Given the description of an element on the screen output the (x, y) to click on. 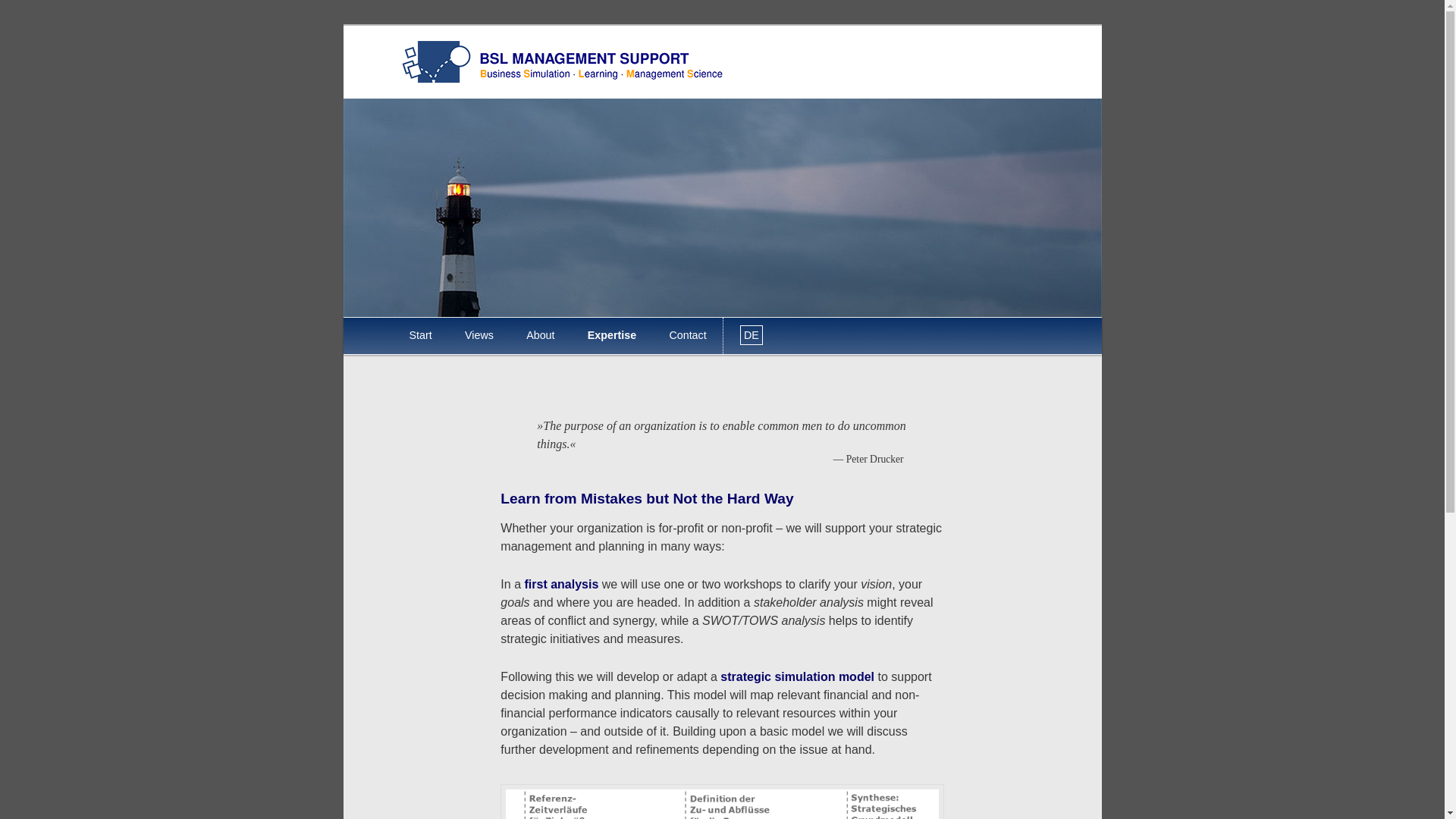
Expertise (611, 335)
DE (750, 335)
Contact (687, 335)
Views (478, 335)
About (541, 335)
DE (750, 335)
Start (420, 335)
Skip to primary content (420, 317)
